Given the description of an element on the screen output the (x, y) to click on. 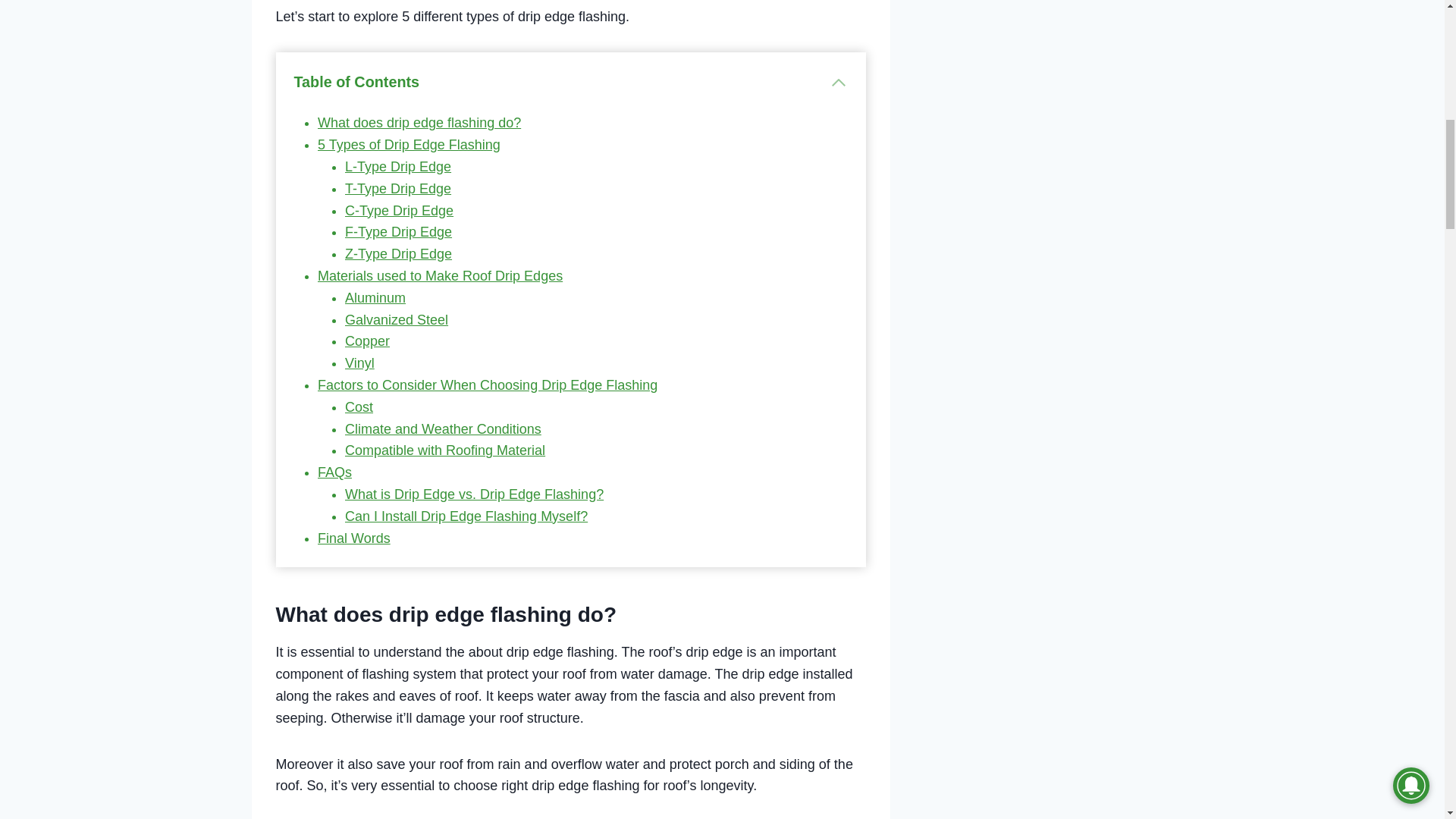
Materials used to Make Roof Drip Edges (439, 275)
Factors to Consider When Choosing Drip Edge Flashing (487, 385)
T-Type Drip Edge (398, 188)
L-Type Drip Edge (398, 166)
FAQs (334, 472)
Galvanized Steel (396, 319)
What does drip edge flashing do? (419, 122)
Cost (358, 406)
What is Drip Edge vs. Drip Edge Flashing? (474, 494)
Z-Type Drip Edge (398, 253)
Vinyl (359, 363)
5 Types of Drip Edge Flashing (408, 144)
Climate and Weather Conditions (443, 428)
Copper (367, 340)
F-Type Drip Edge (398, 231)
